Given the description of an element on the screen output the (x, y) to click on. 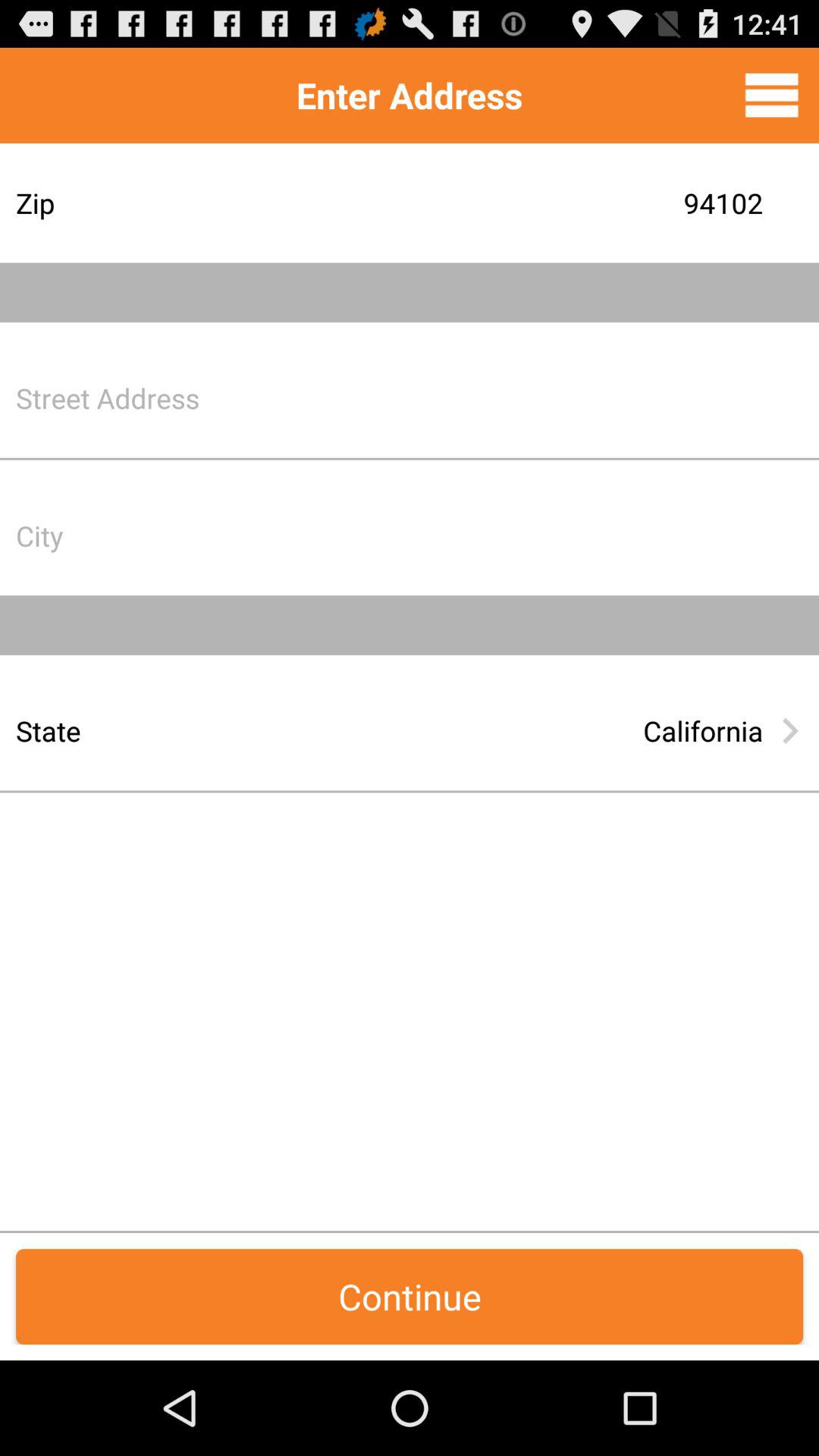
menu section (771, 95)
